Given the description of an element on the screen output the (x, y) to click on. 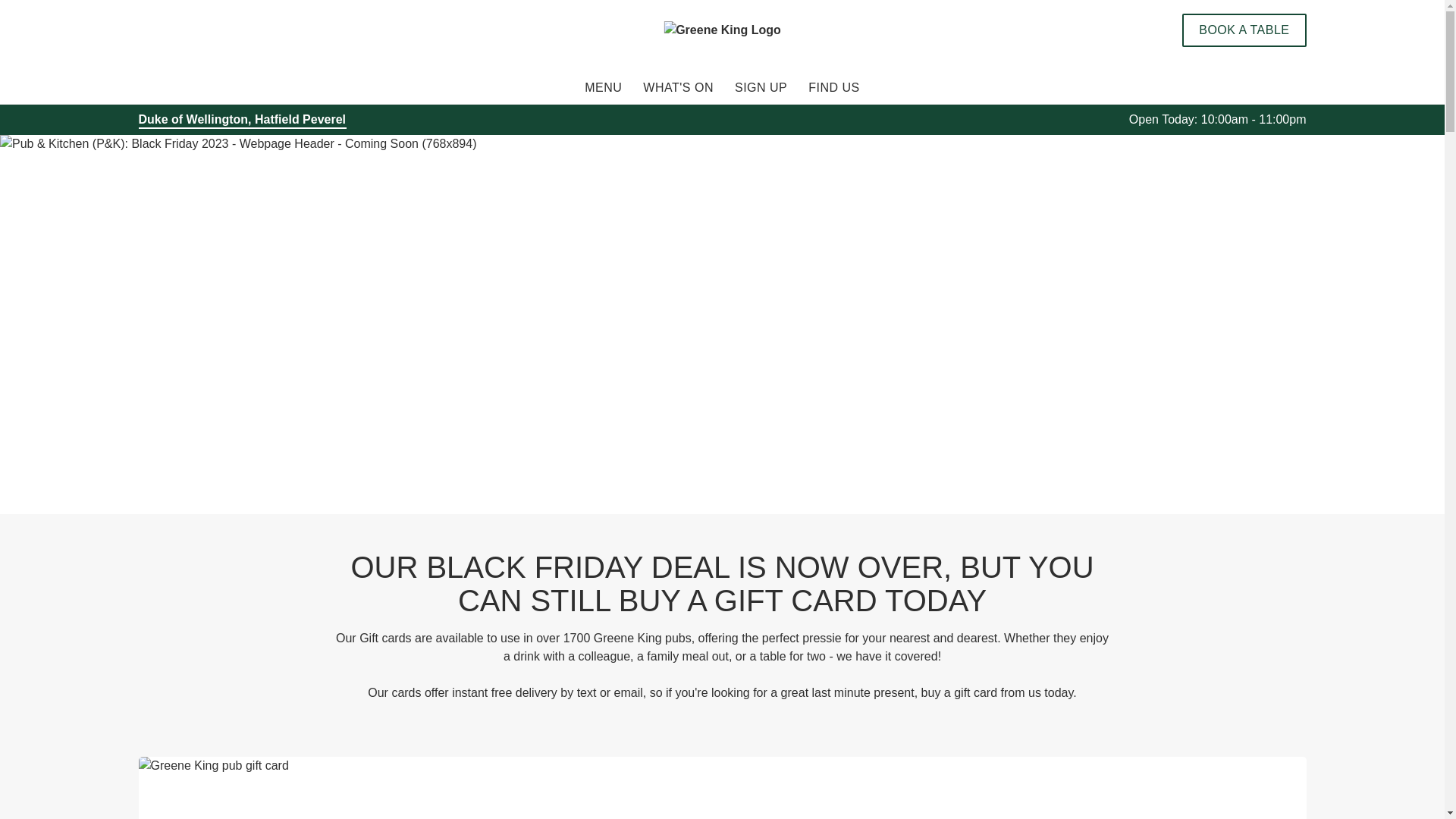
FIND US (834, 87)
WHAT'S ON (678, 87)
MENU (603, 87)
Duke of Wellington, Hatfield Peverel (242, 119)
Return to homepage (721, 30)
BOOK (1244, 29)
SIGN UP (761, 87)
